Given the description of an element on the screen output the (x, y) to click on. 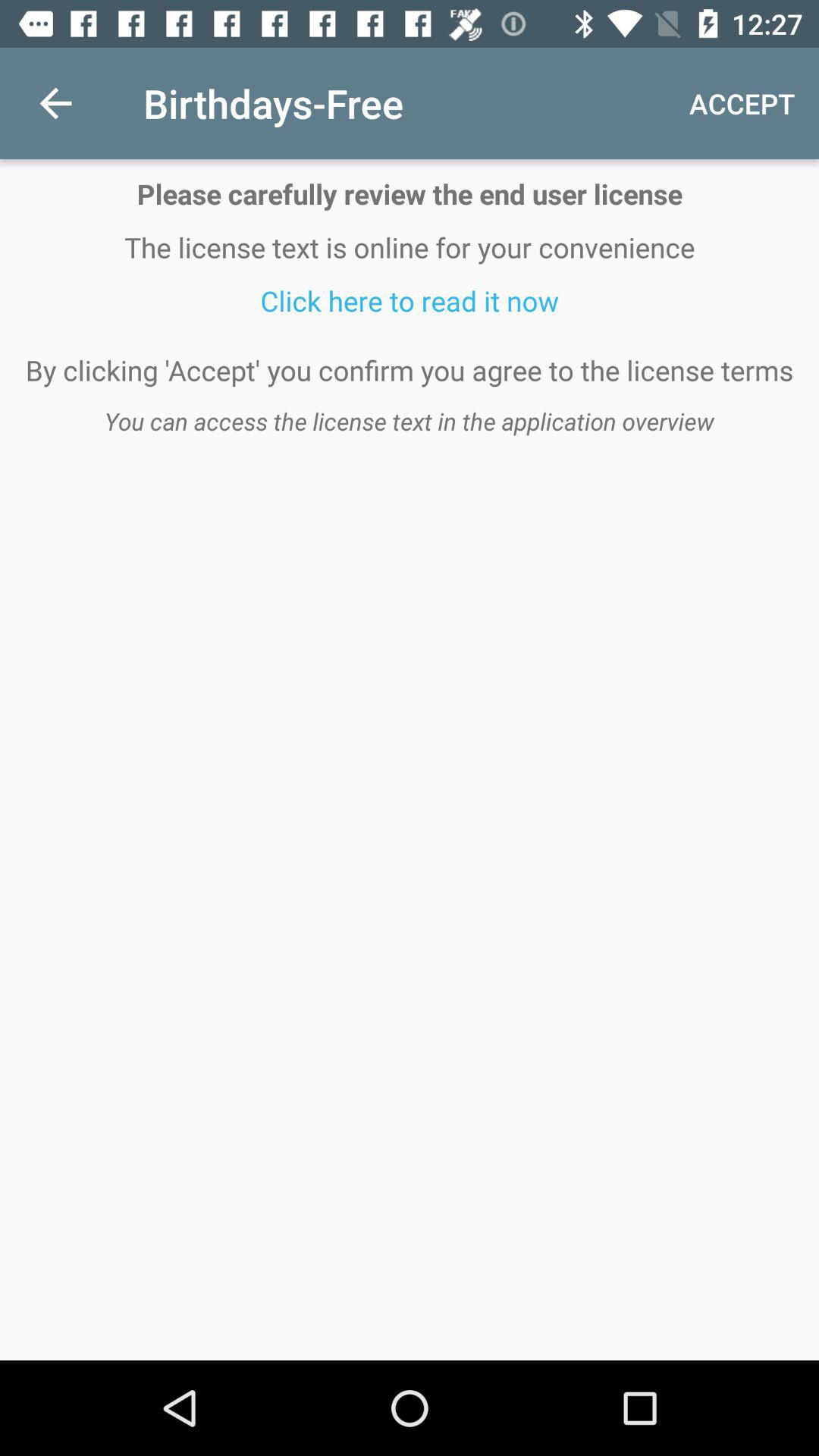
turn off the item above the by clicking accept (409, 300)
